Given the description of an element on the screen output the (x, y) to click on. 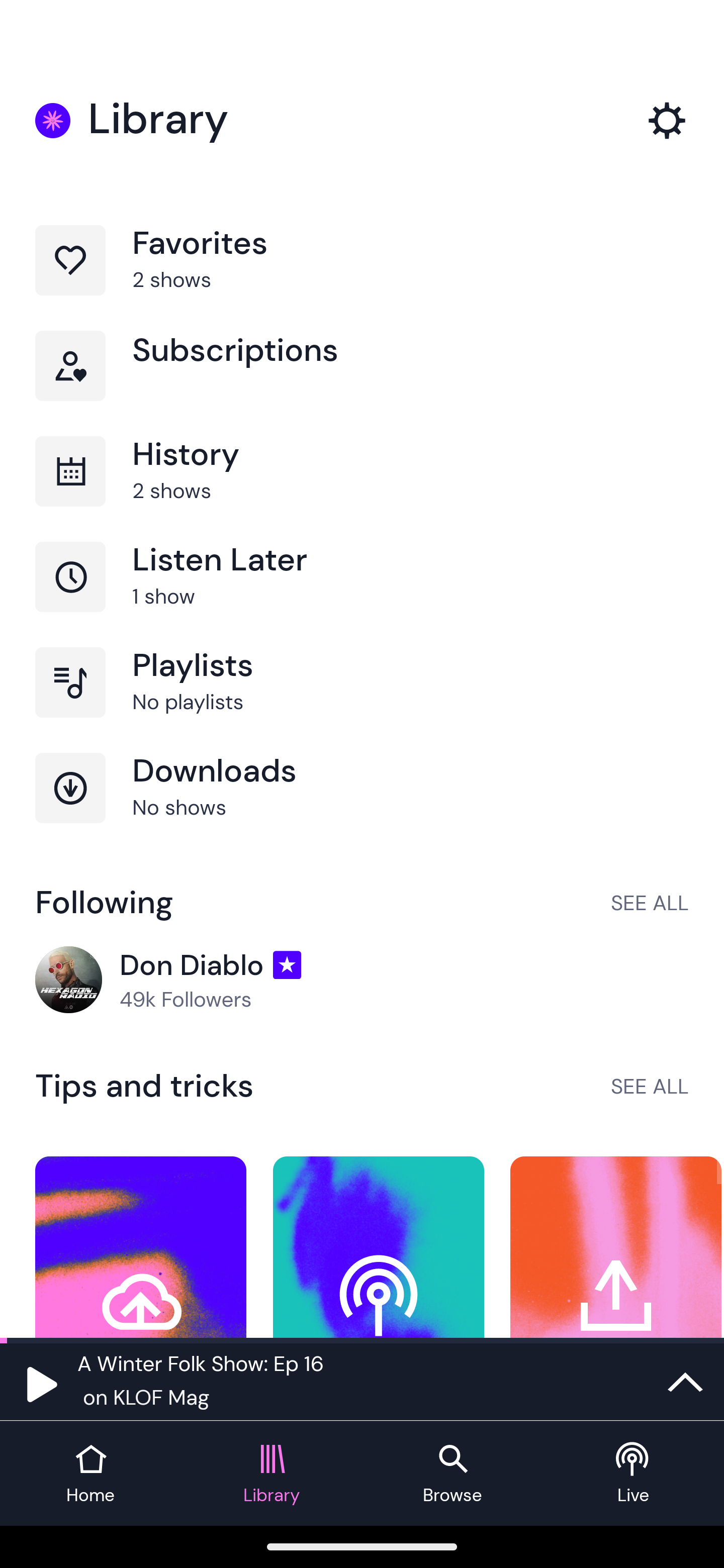
Favorites, 2 shows Favorites 2 shows (361, 277)
Subscriptions (361, 382)
History, 2 shows History 2 shows (361, 488)
Listen Later, 1 show Listen Later 1 show (361, 594)
Playlists, No playlists Playlists No playlists (361, 699)
Downloads, No shows Downloads No shows (361, 804)
SEE ALL (649, 902)
Don Diablo, 49k Followers Don Diablo 49k Followers (361, 980)
SEE ALL (649, 1085)
Home tab Home (90, 1473)
Library tab Library (271, 1473)
Browse tab Browse (452, 1473)
Live tab Live (633, 1473)
